Given the description of an element on the screen output the (x, y) to click on. 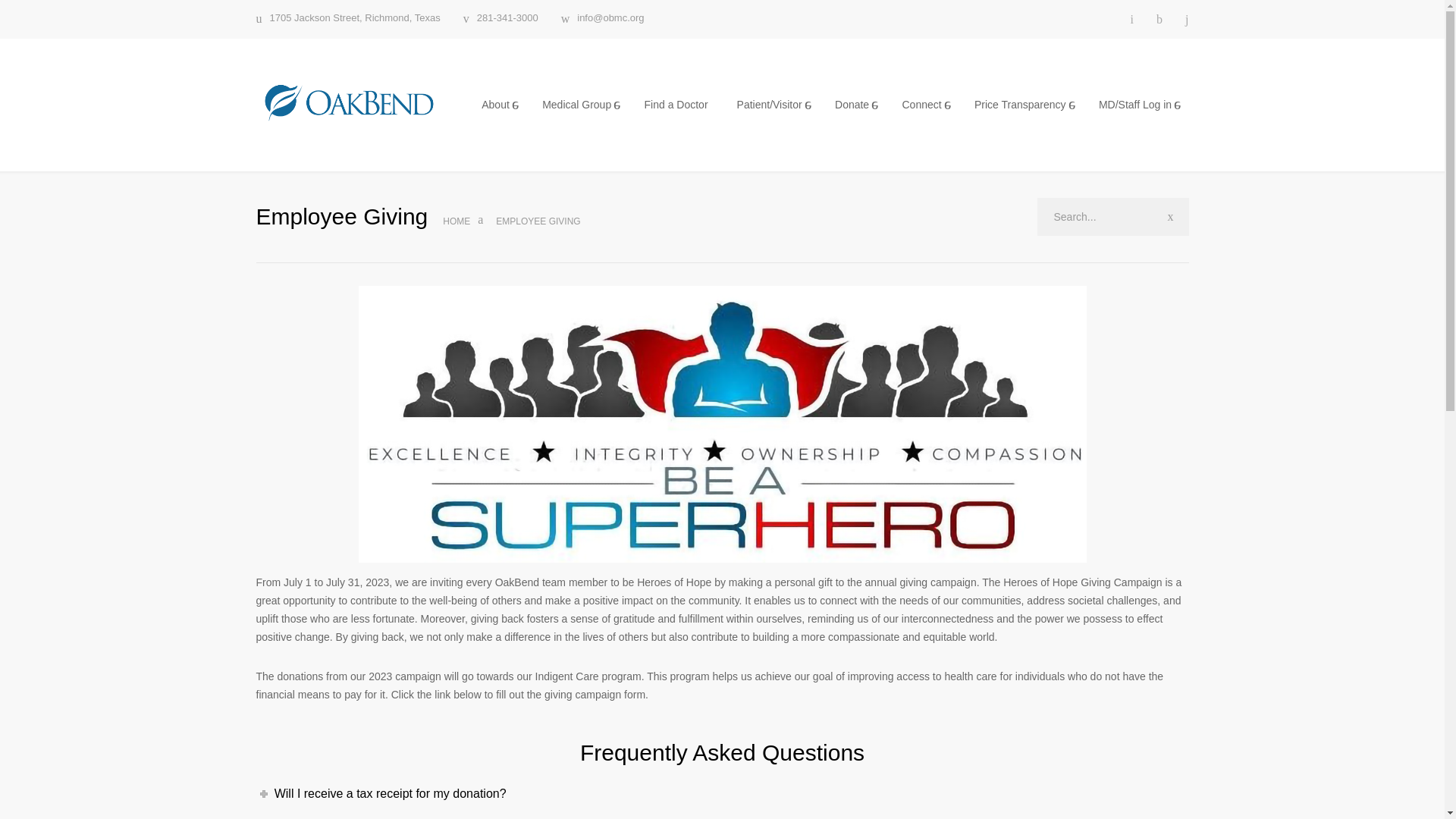
About (496, 104)
Search... (1112, 216)
281-341-3000 (500, 19)
Find a Doctor (675, 104)
Home (456, 221)
Search... (1112, 216)
Medical Group (578, 104)
